Given the description of an element on the screen output the (x, y) to click on. 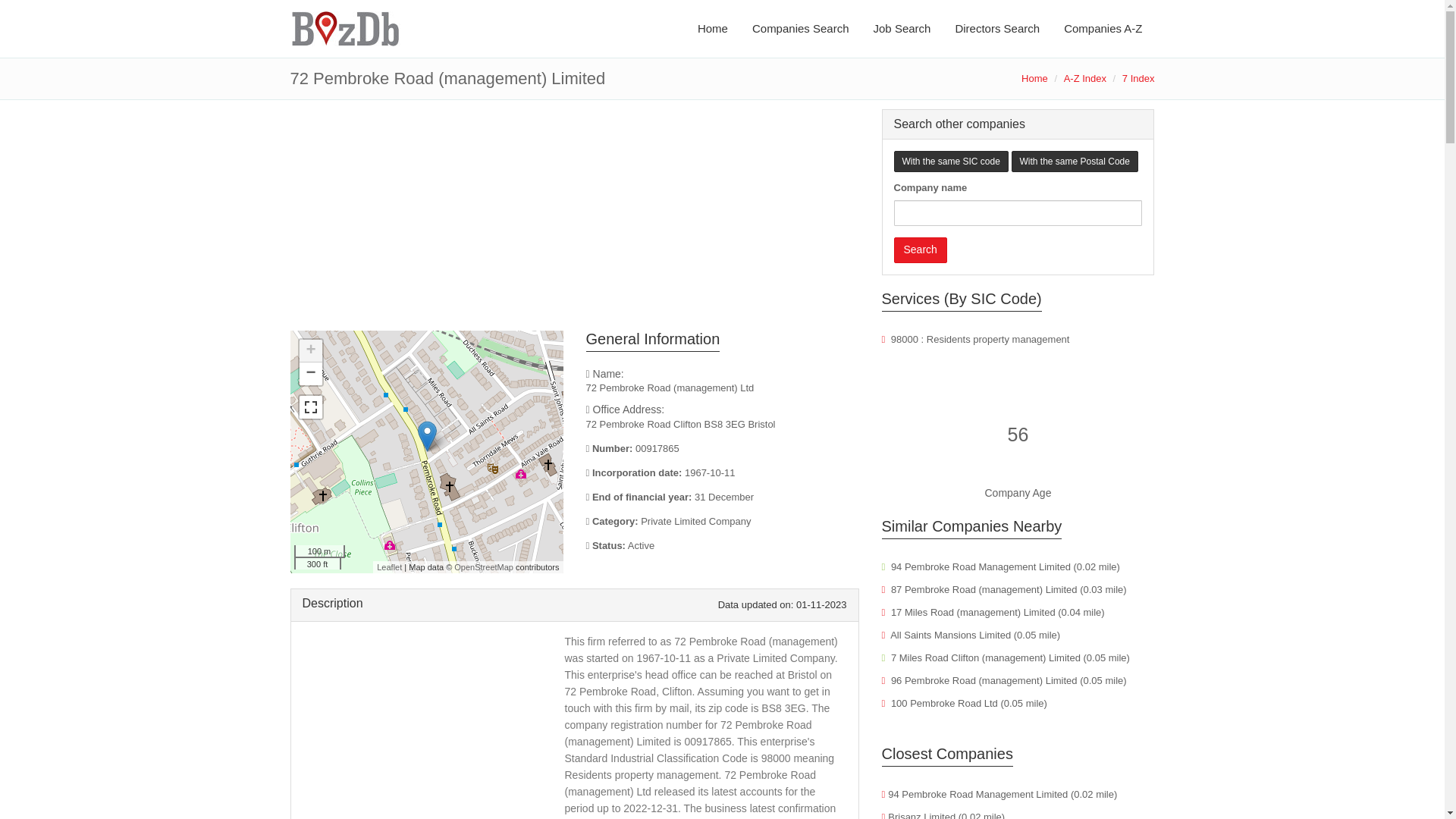
Zoom out (309, 373)
With the same SIC code (950, 160)
The company is currently active (722, 545)
Home (1035, 78)
Job Search (902, 28)
Directors Search (996, 28)
OpenStreetMap (483, 566)
7 Index (1138, 78)
Search (919, 249)
View Fullscreen (309, 406)
7 Index (1138, 78)
A JS library for interactive maps (389, 566)
Leaflet (389, 566)
With the same Postal Code (1074, 160)
